Given the description of an element on the screen output the (x, y) to click on. 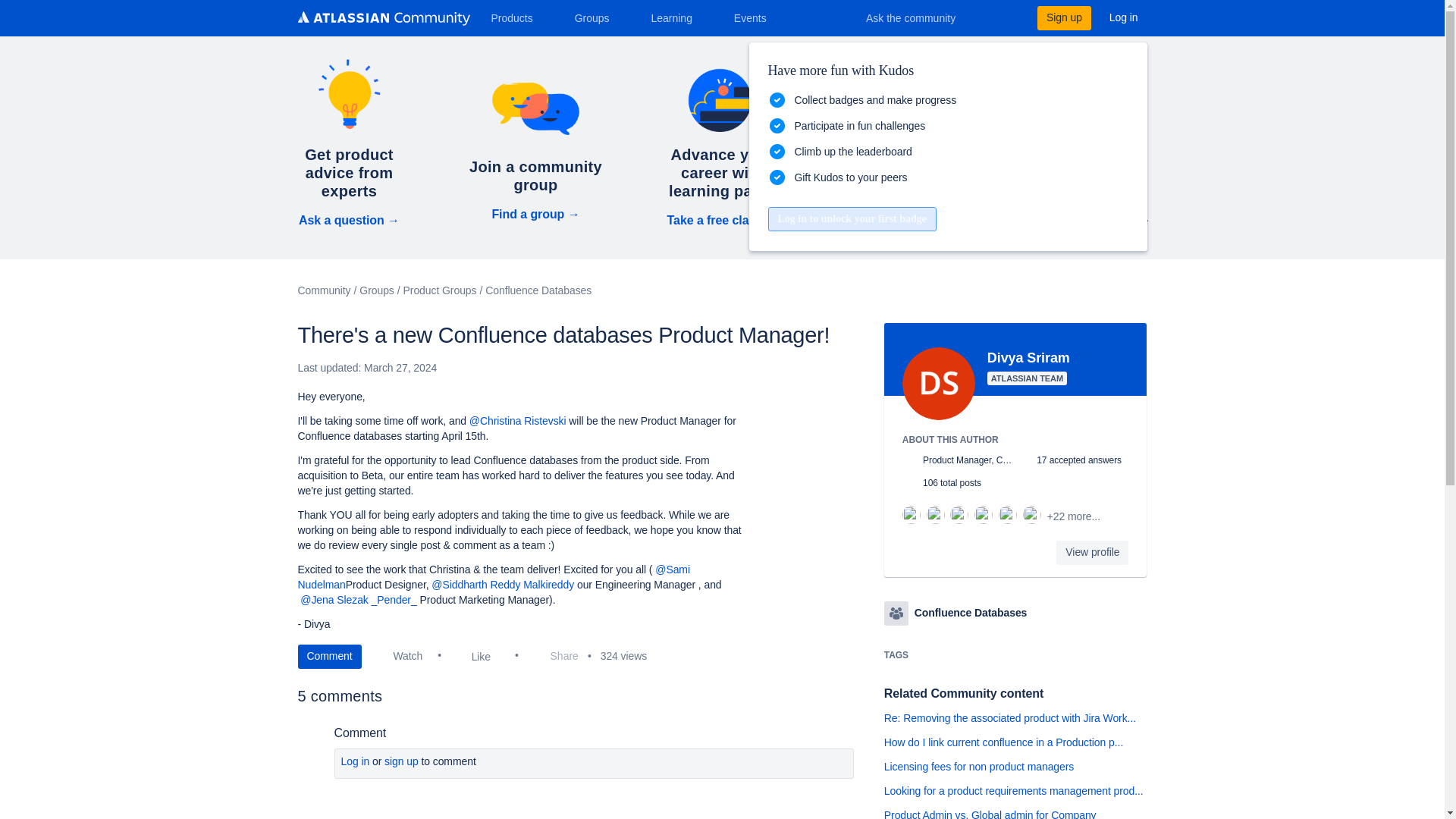
groups-icon (895, 612)
Ask the community  (921, 17)
Learning (676, 17)
Groups (598, 17)
Atlassian Community logo (382, 19)
Log in to unlock your first badge (851, 218)
Log in (1123, 17)
Events (756, 17)
Atlassian Community logo (382, 18)
Products (517, 17)
